Given the description of an element on the screen output the (x, y) to click on. 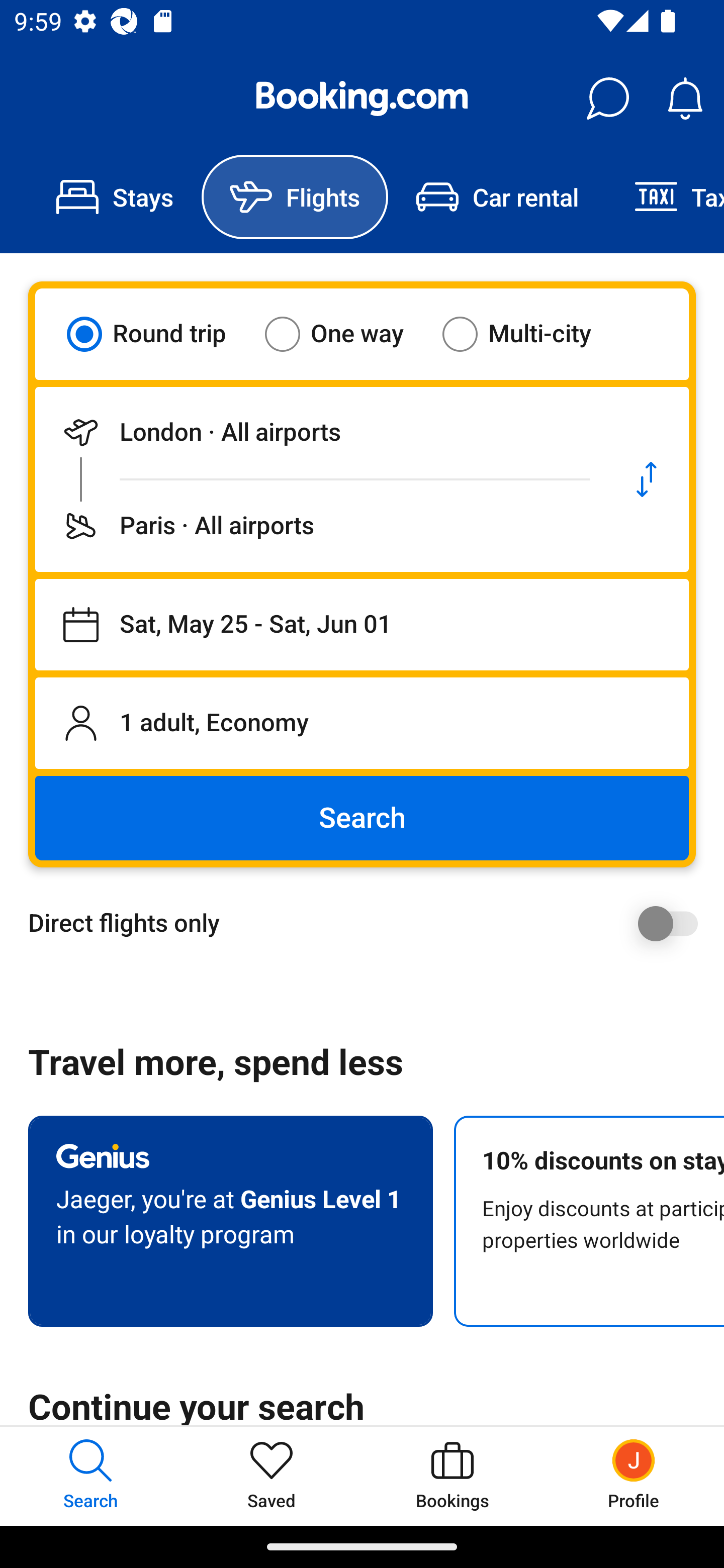
Messages (607, 98)
Notifications (685, 98)
Stays (114, 197)
Flights (294, 197)
Car rental (497, 197)
Taxi (665, 197)
One way (346, 333)
Multi-city (528, 333)
Departing from London · All airports (319, 432)
Swap departure location and destination (646, 479)
Flying to Paris · All airports (319, 525)
Departing on Sat, May 25, returning on Sat, Jun 01 (361, 624)
1 adult, Economy (361, 722)
Search (361, 818)
Direct flights only (369, 923)
Saved (271, 1475)
Bookings (452, 1475)
Profile (633, 1475)
